Given the description of an element on the screen output the (x, y) to click on. 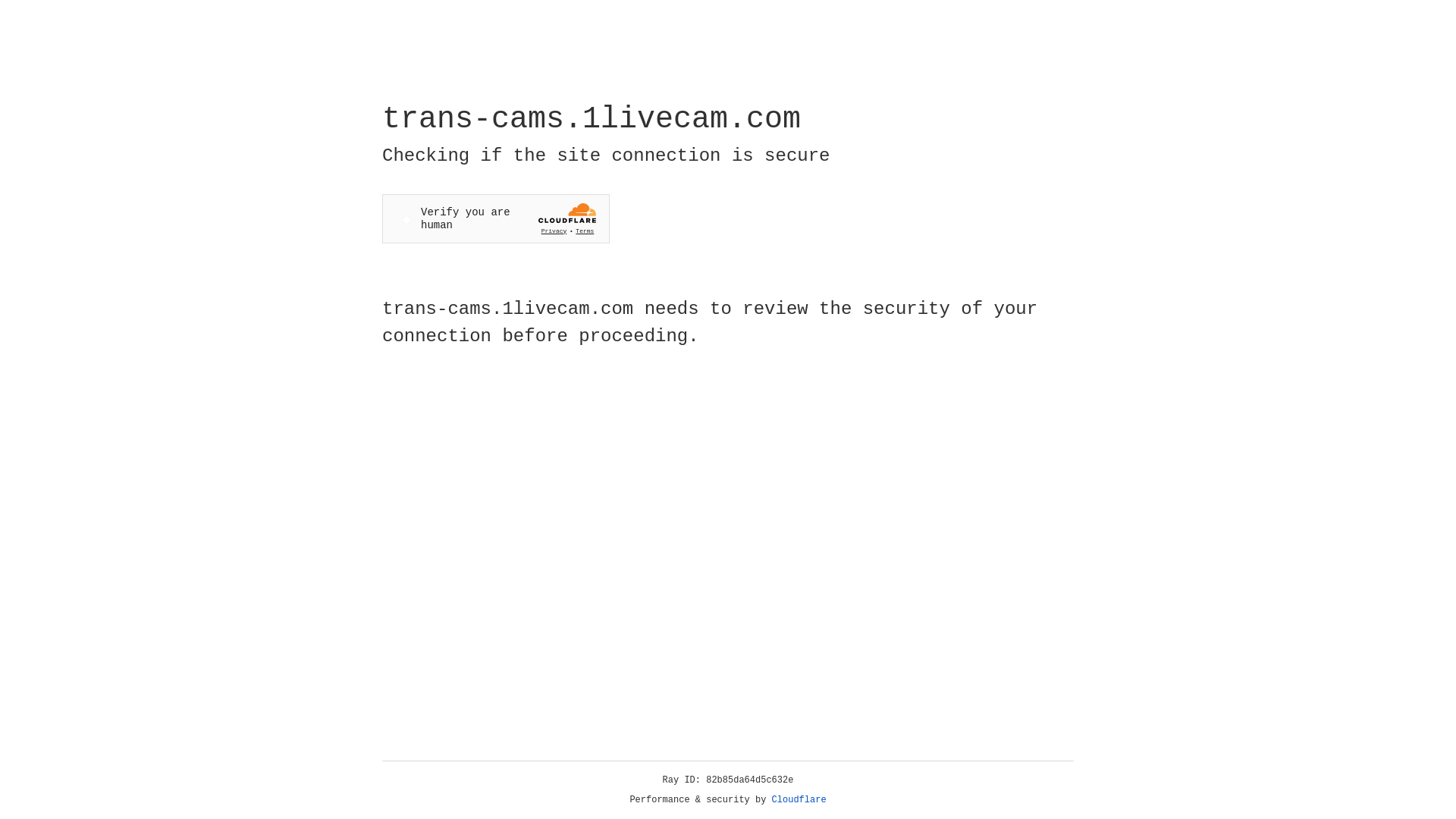
Widget containing a Cloudflare security challenge Element type: hover (495, 218)
Cloudflare Element type: text (798, 799)
